Given the description of an element on the screen output the (x, y) to click on. 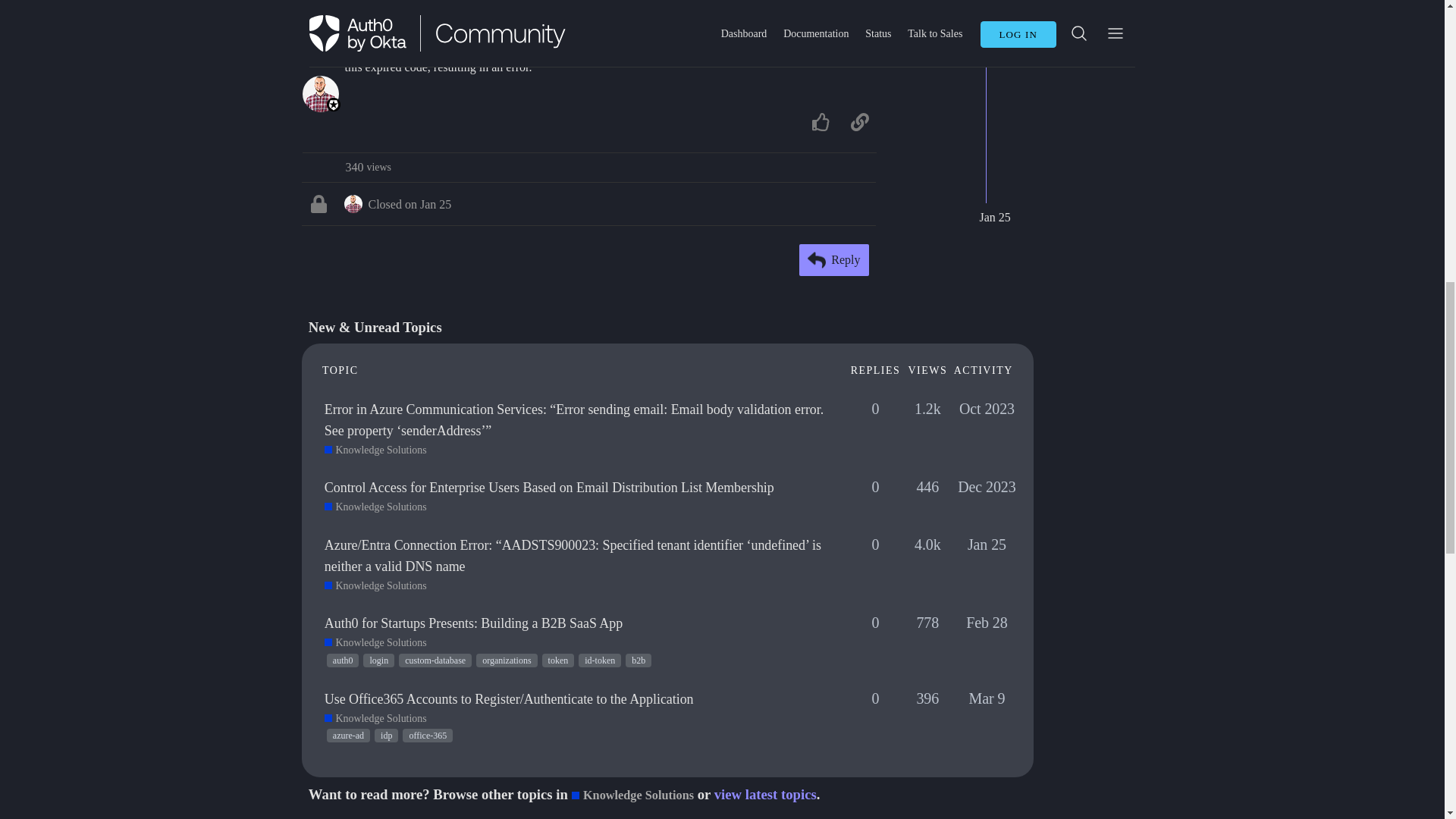
konrad.sopala (352, 203)
Reply (834, 260)
Knowledge Solutions (375, 507)
like this post (821, 122)
share a link to this post (859, 122)
Oct 2023 (986, 409)
Knowledge Solutions (375, 450)
Dec 2023 (367, 166)
